Given the description of an element on the screen output the (x, y) to click on. 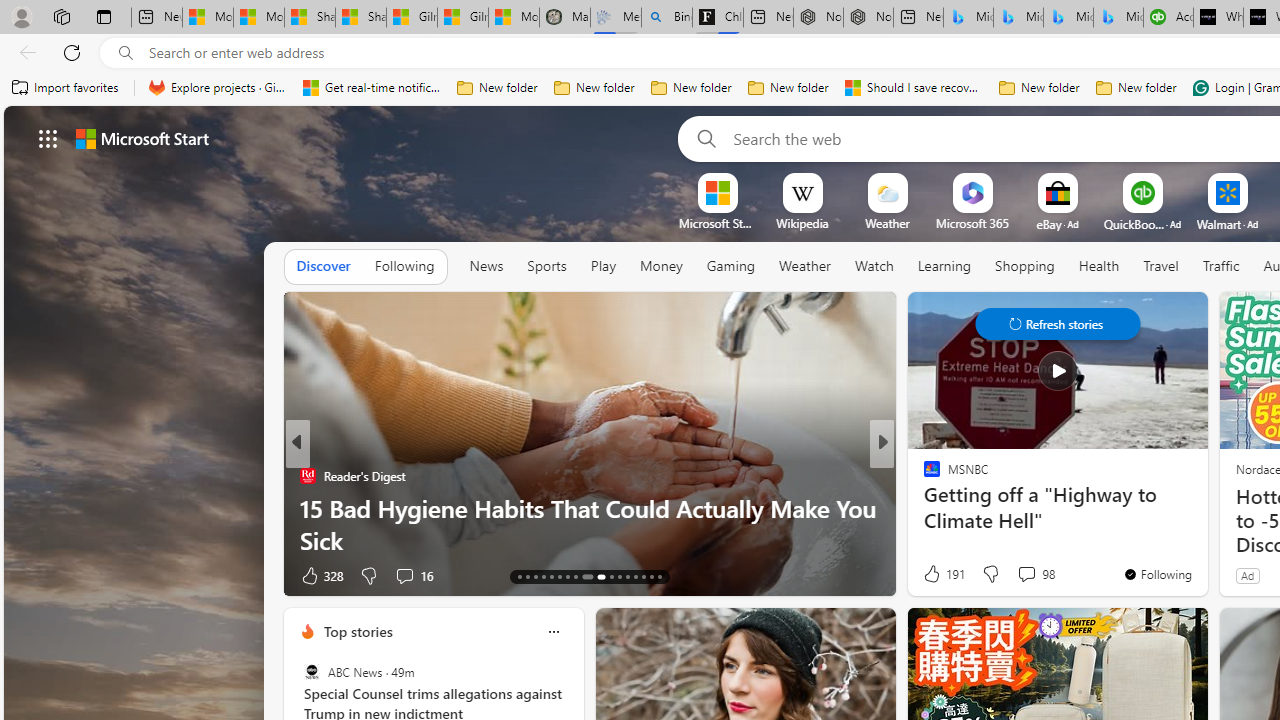
Reader's Digest (307, 475)
Traffic (1220, 265)
Shanghai, China weather forecast | Microsoft Weather (360, 17)
27 Like (934, 574)
You're following MSNBC (1157, 573)
Should I save recovered Word documents? - Microsoft Support (913, 88)
Forge of Empires (960, 507)
Sports (546, 265)
Microsoft 365 (971, 223)
Travel (1160, 267)
